Given the description of an element on the screen output the (x, y) to click on. 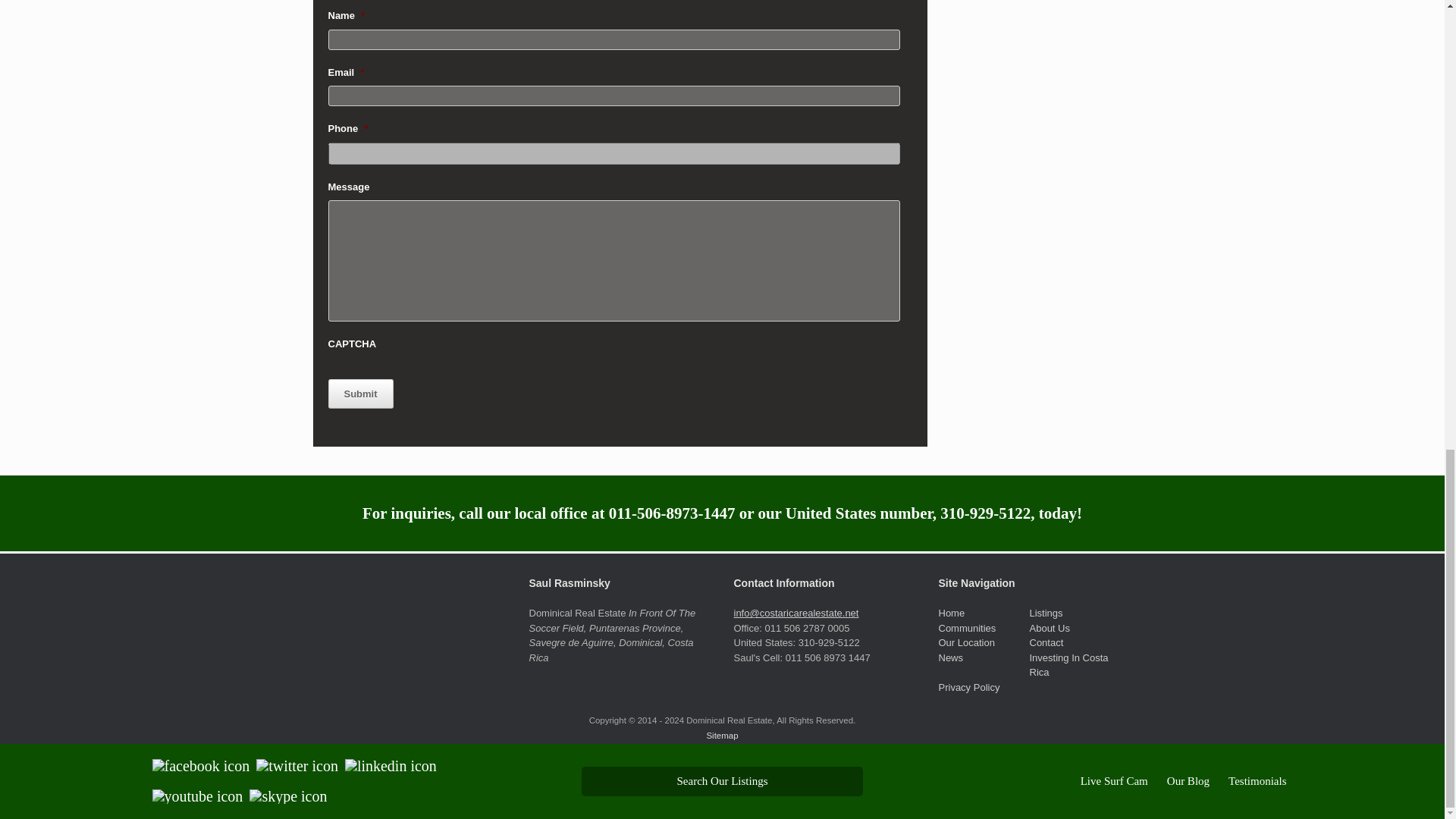
Submit (360, 393)
